Given the description of an element on the screen output the (x, y) to click on. 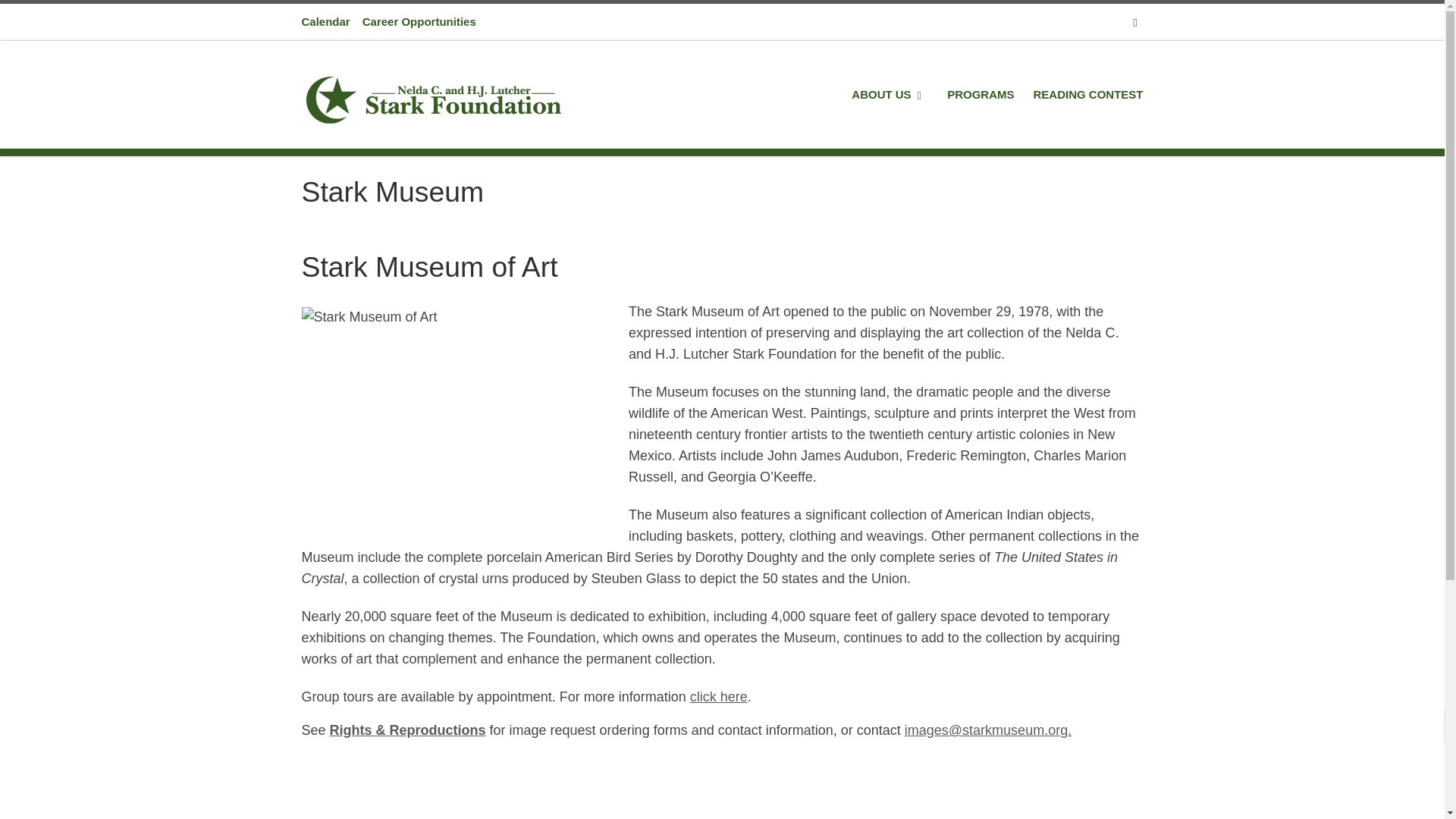
READING CONTEST (1087, 94)
Search (1135, 22)
ABOUT US (890, 94)
PROGRAMS (980, 94)
Career Opportunities (419, 21)
Skip to content (60, 20)
click here (719, 696)
Stark Museum of Art (453, 405)
Calendar (325, 21)
